Given the description of an element on the screen output the (x, y) to click on. 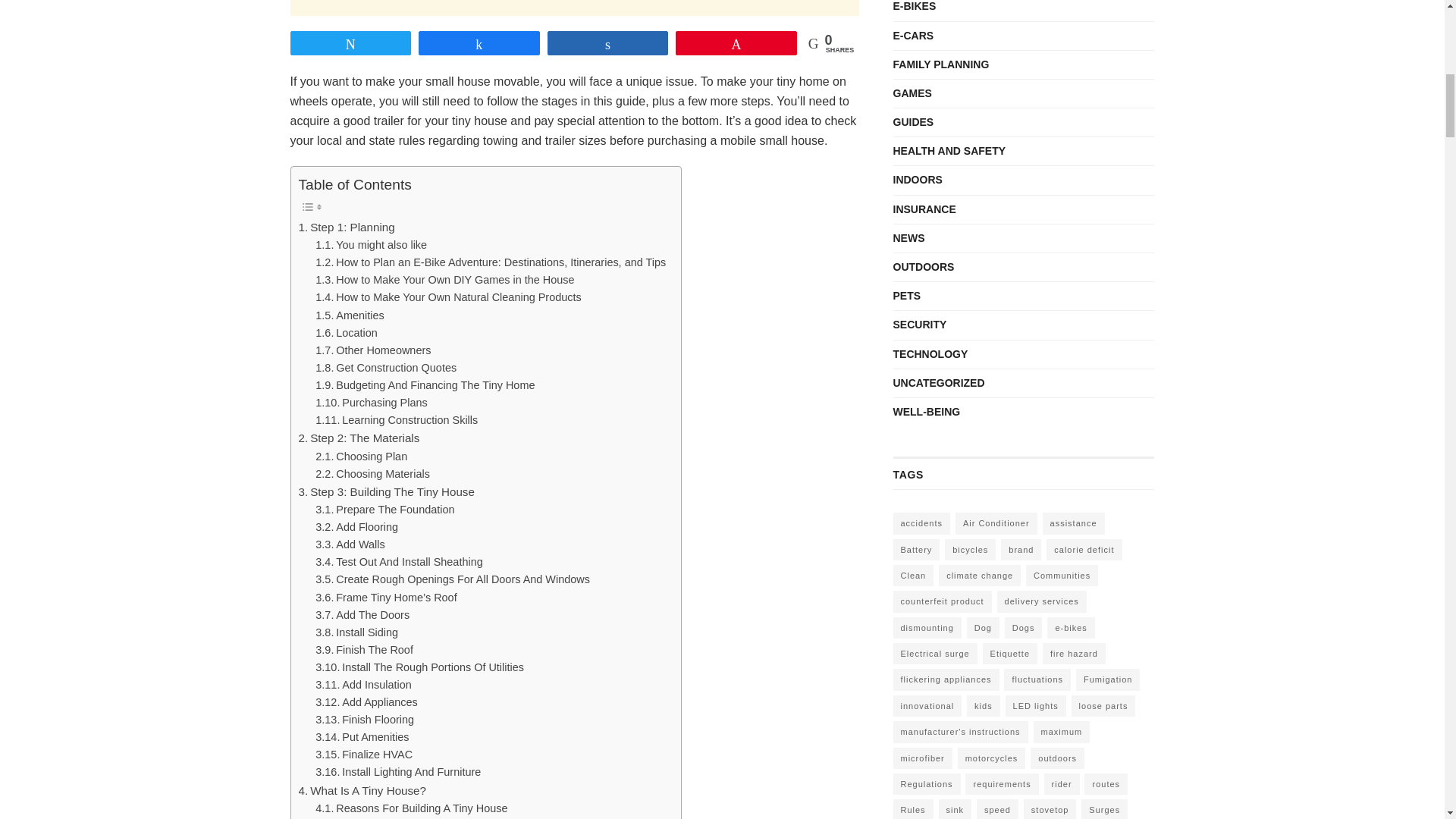
Amenities (349, 315)
Get Construction Quotes (386, 367)
Step 1: Planning (346, 227)
You might also like (370, 244)
Purchasing Plans (370, 402)
Other Homeowners (372, 350)
Learning Construction Skills (396, 420)
